Given the description of an element on the screen output the (x, y) to click on. 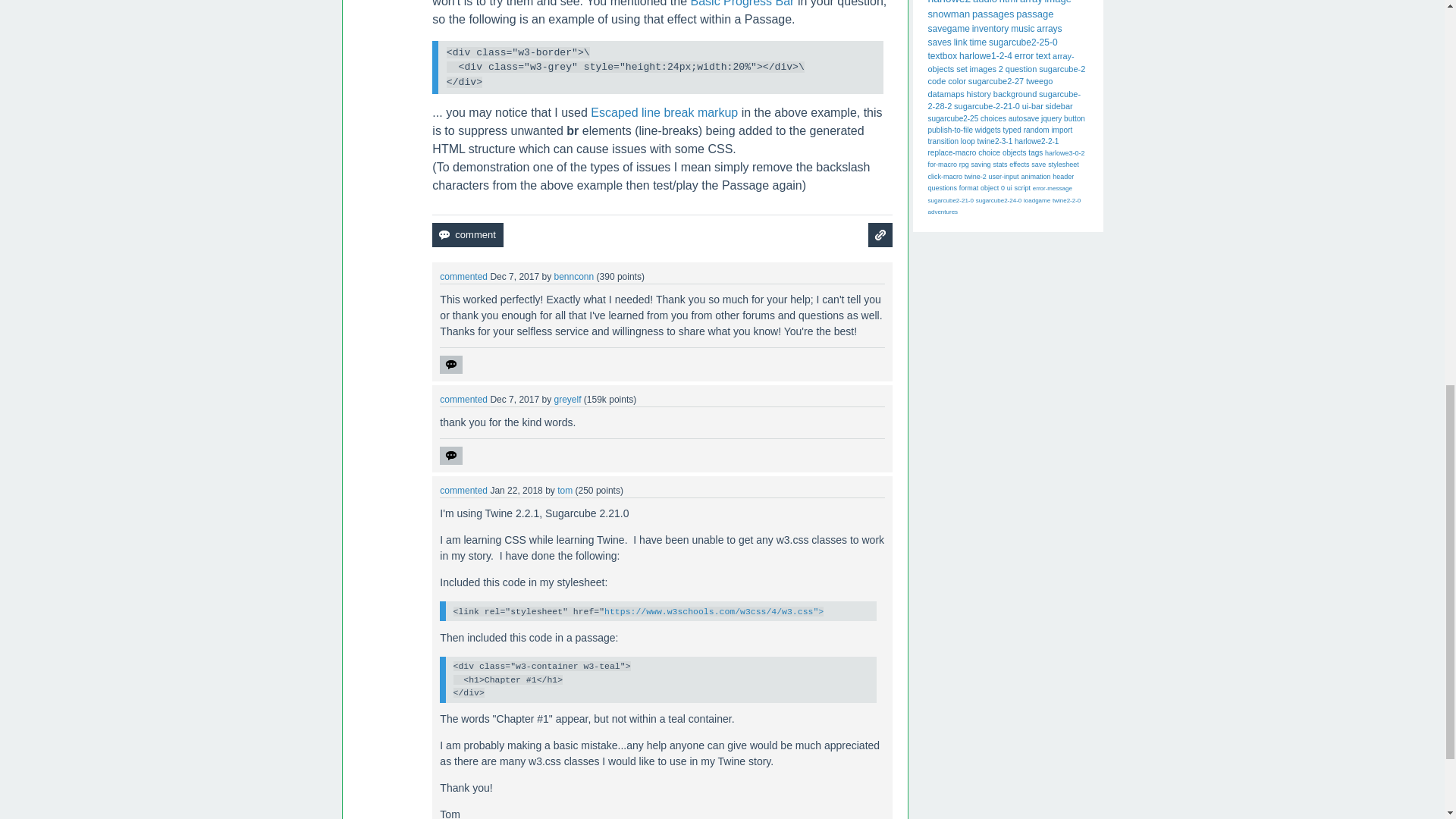
comment (467, 234)
commented (463, 276)
reply (451, 455)
bennconn (573, 276)
Add a comment on this answer (467, 234)
comment (467, 234)
ask related question (879, 234)
Reply to this comment (451, 455)
Ask a new question relating to this answer (879, 234)
Reply to this comment (451, 364)
Basic Progress Bar (741, 3)
Escaped line break markup (664, 112)
ask related question (879, 234)
reply (451, 364)
